Given the description of an element on the screen output the (x, y) to click on. 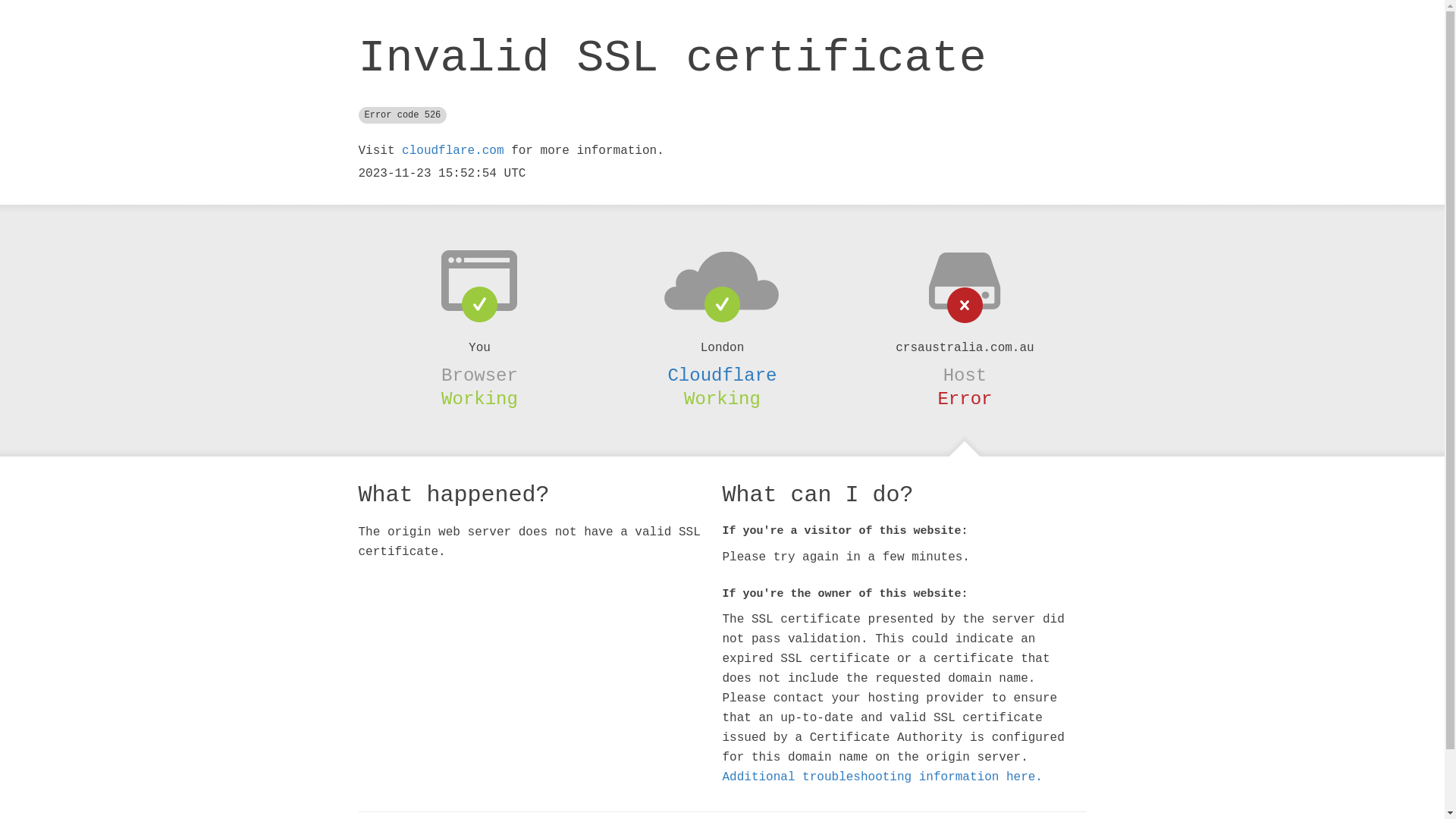
Additional troubleshooting information here. Element type: text (881, 777)
Cloudflare Element type: text (721, 375)
cloudflare.com Element type: text (452, 150)
